Given the description of an element on the screen output the (x, y) to click on. 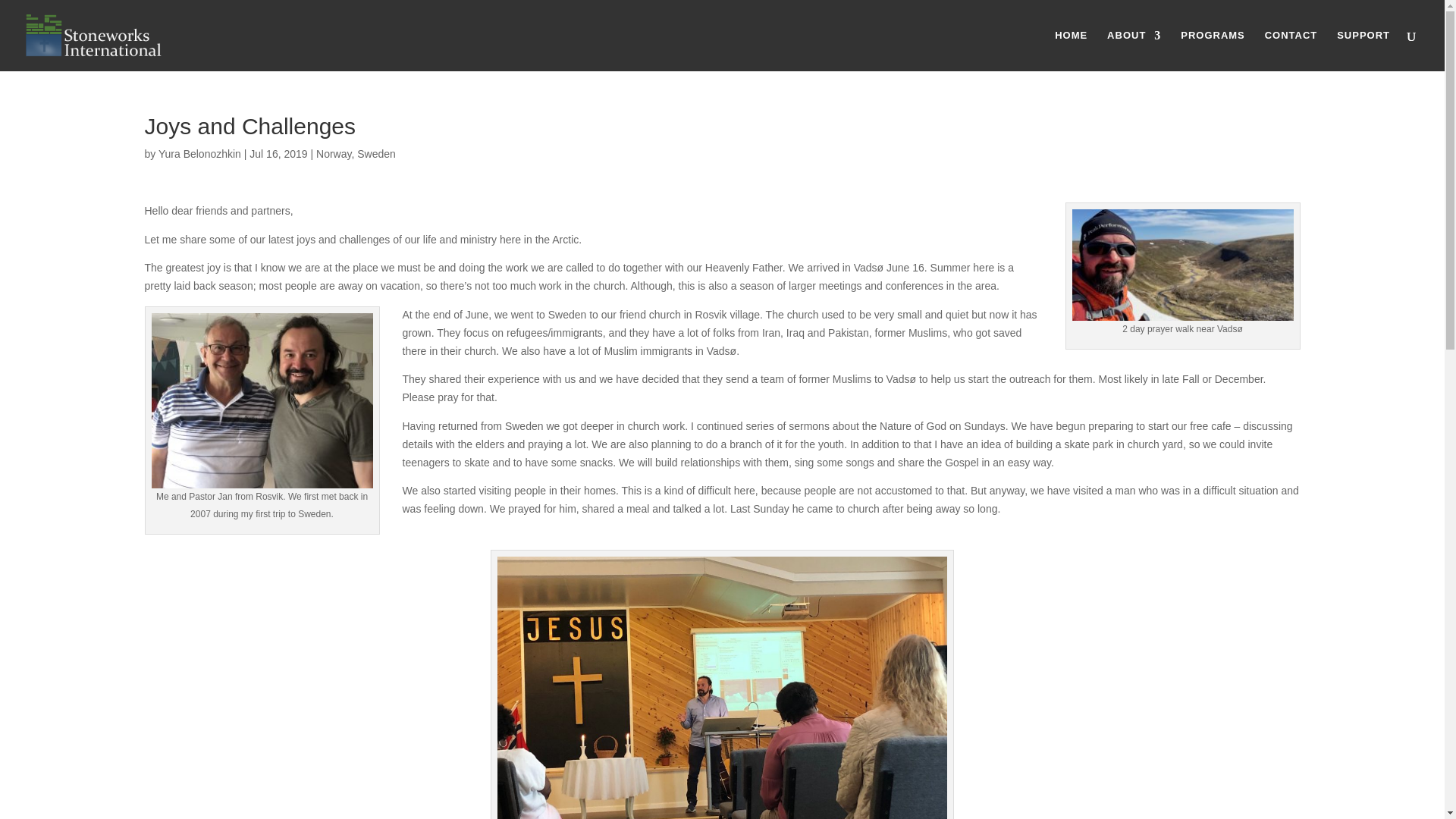
Posts by Yura Belonozhkin (199, 153)
PROGRAMS (1212, 50)
Yura Belonozhkin (199, 153)
SUPPORT (1363, 50)
Sweden (376, 153)
ABOUT (1133, 50)
CONTACT (1291, 50)
Norway (332, 153)
